Given the description of an element on the screen output the (x, y) to click on. 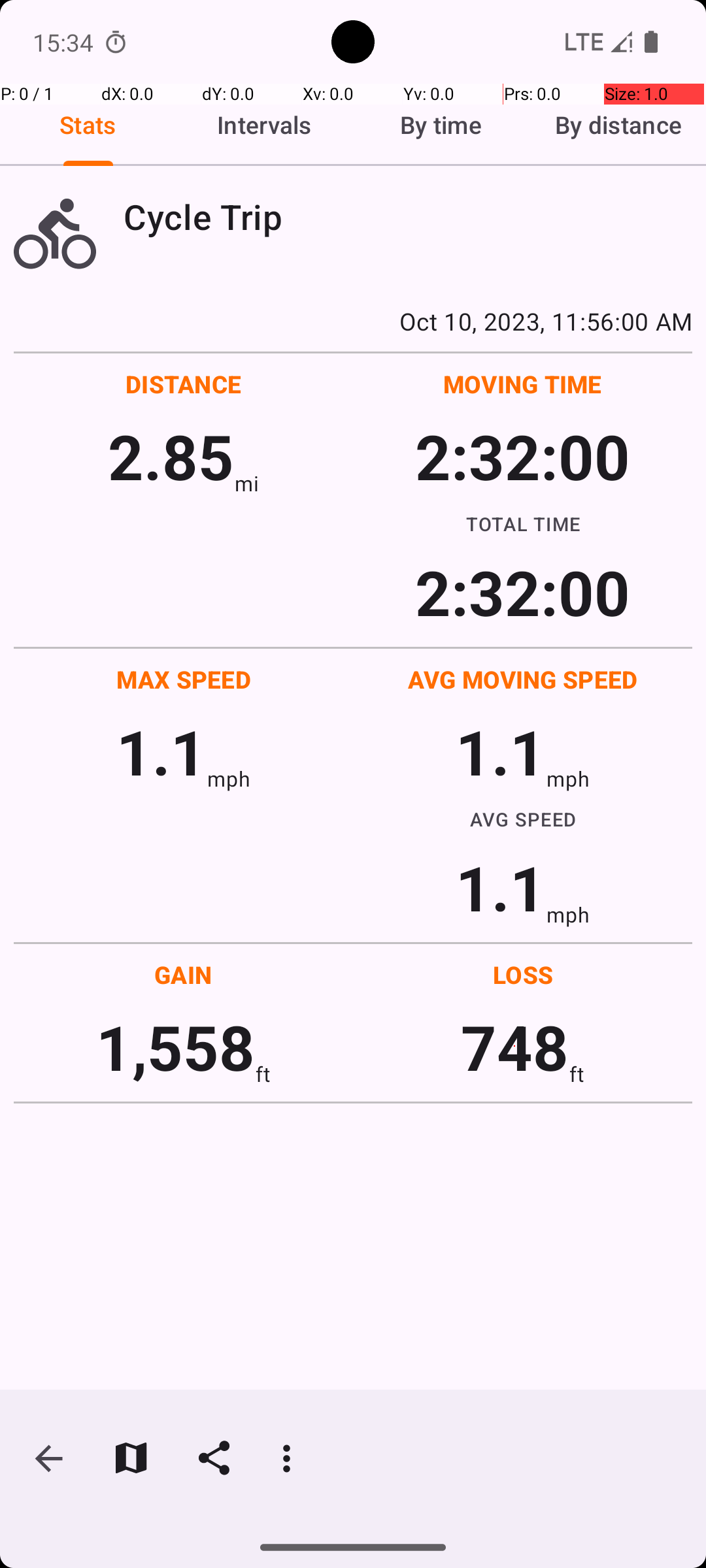
Cycle Trip Element type: android.widget.TextView (407, 216)
Oct 10, 2023, 11:56:00 AM Element type: android.widget.TextView (352, 320)
2.85 Element type: android.widget.TextView (170, 455)
2:32:00 Element type: android.widget.TextView (522, 455)
1.1 Element type: android.widget.TextView (161, 750)
1,558 Element type: android.widget.TextView (175, 1045)
748 Element type: android.widget.TextView (514, 1045)
